Given the description of an element on the screen output the (x, y) to click on. 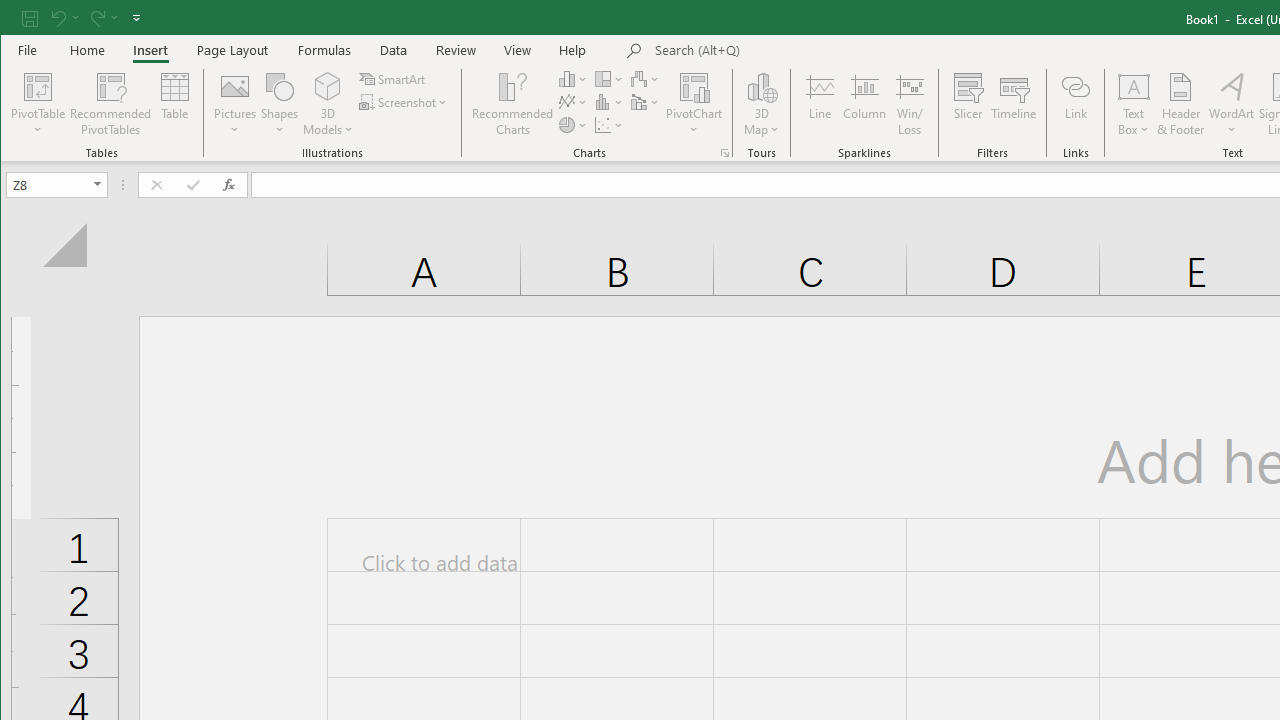
WordArt (1231, 104)
PivotTable (37, 104)
Win/Loss (909, 104)
Insert Column or Bar Chart (573, 78)
PivotTable (37, 86)
3D Models (327, 104)
Column (864, 104)
Insert Scatter (X, Y) or Bubble Chart (609, 124)
Insert Line or Area Chart (573, 101)
3D Map (762, 86)
Text Box (1133, 104)
